Given the description of an element on the screen output the (x, y) to click on. 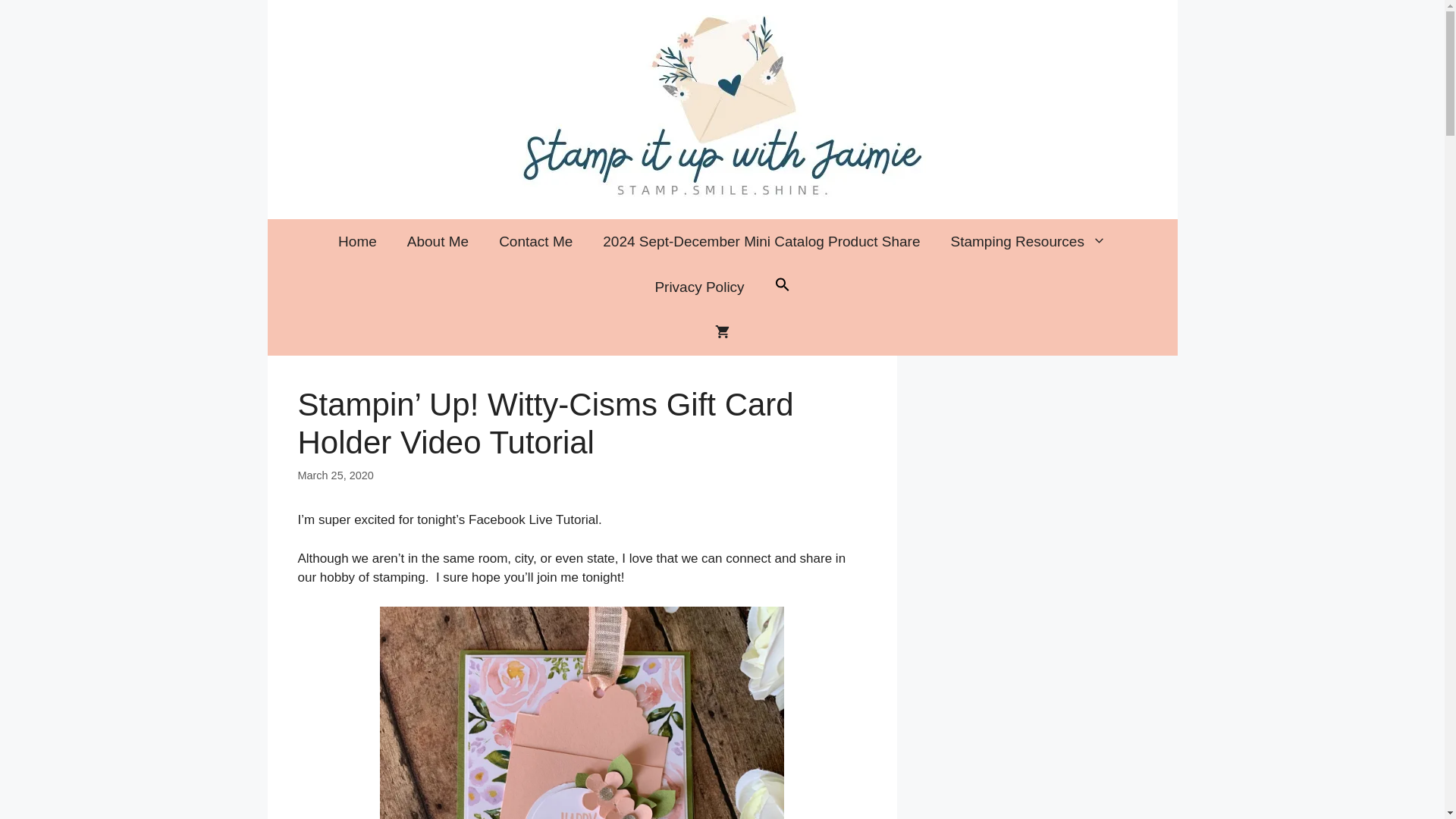
Stamping Resources (1028, 241)
2024 Sept-December Mini Catalog Product Share (761, 241)
Home (357, 241)
View your shopping cart (722, 332)
Contact Me (535, 241)
About Me (437, 241)
Privacy Policy (698, 287)
